Given the description of an element on the screen output the (x, y) to click on. 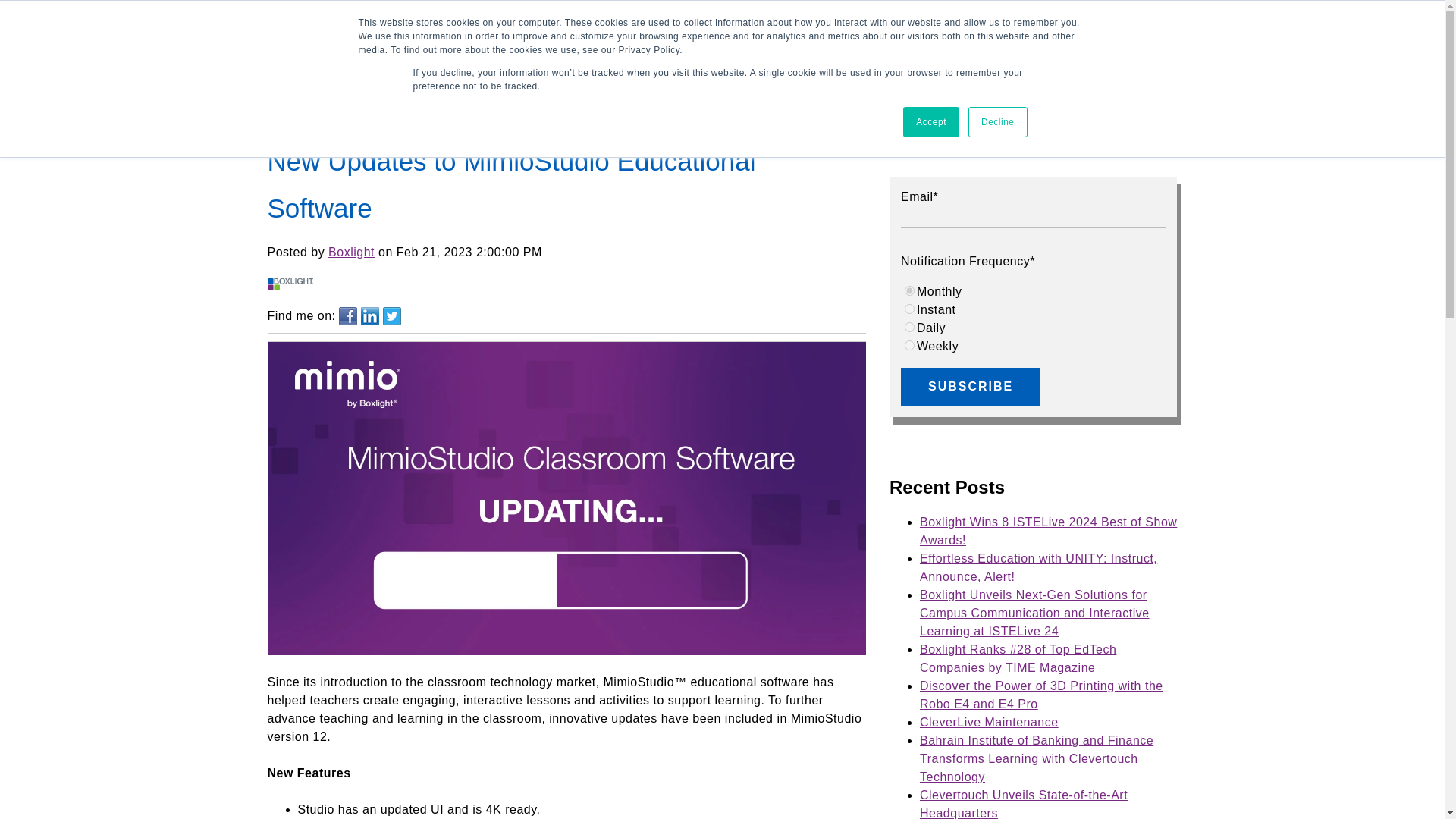
Boxlight (351, 251)
Decline (997, 122)
weekly (909, 345)
LinkedIn (369, 316)
Twitter (391, 316)
Clevertouch Unveils State-of-the-Art Headquarters (1023, 803)
CleverLive Maintenance (989, 721)
monthly (909, 290)
daily (909, 327)
Subscribe (971, 386)
Subscribe (971, 386)
Facebook (347, 316)
Accept (930, 122)
